Given the description of an element on the screen output the (x, y) to click on. 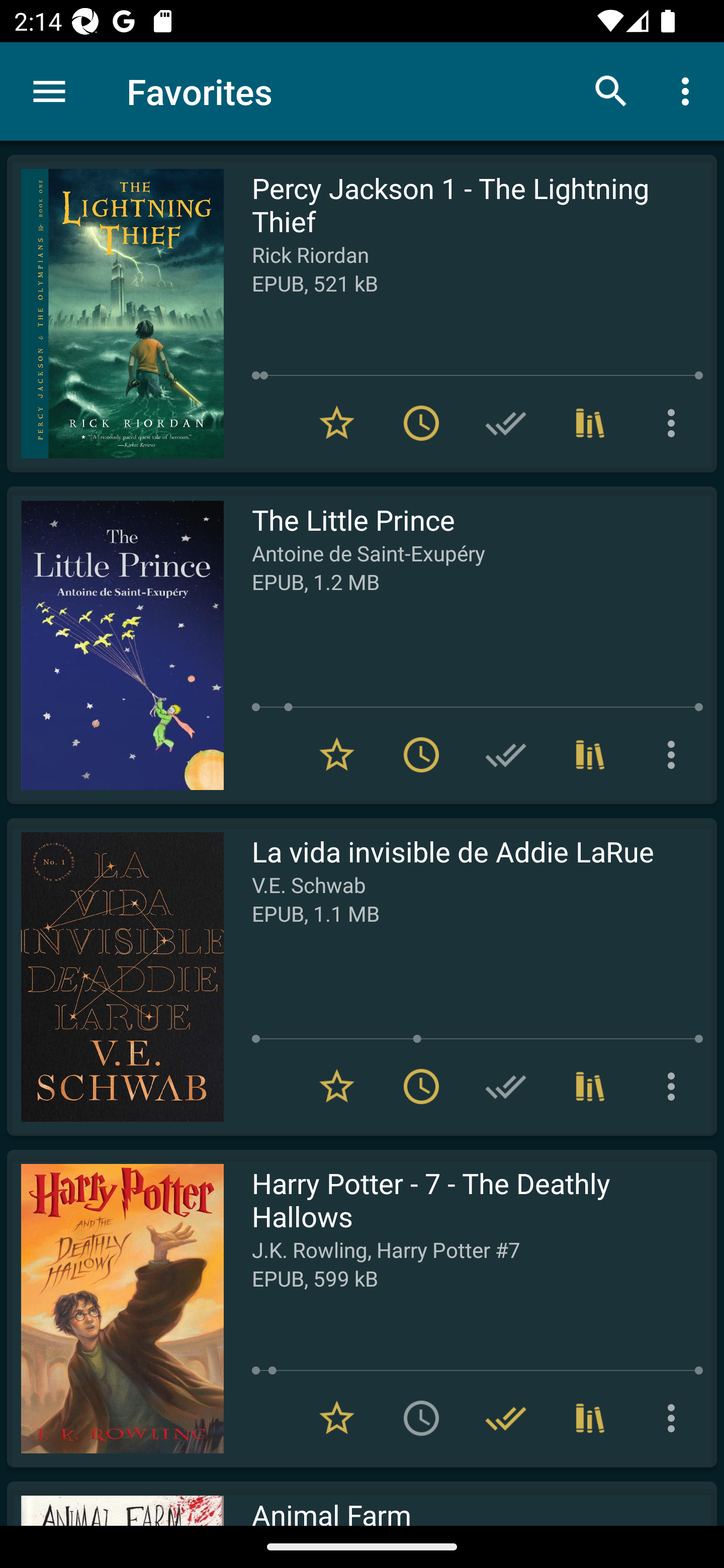
Menu (49, 91)
Search books & documents (611, 90)
More options (688, 90)
Read Percy Jackson 1 - The Lightning Thief (115, 313)
Remove from Favorites (336, 423)
Remove from To read (421, 423)
Add to Have read (505, 423)
Collections (1) (590, 423)
More options (674, 423)
Read The Little Prince (115, 645)
Remove from Favorites (336, 753)
Remove from To read (421, 753)
Add to Have read (505, 753)
Collections (1) (590, 753)
More options (674, 753)
Read La vida invisible de Addie LaRue (115, 976)
Remove from Favorites (336, 1086)
Remove from To read (421, 1086)
Add to Have read (505, 1086)
Collections (1) (590, 1086)
More options (674, 1086)
Read Harry Potter - 7 - The Deathly Hallows (115, 1308)
Remove from Favorites (336, 1417)
Add to To read (421, 1417)
Remove from Have read (505, 1417)
Collections (3) (590, 1417)
More options (674, 1417)
